Given the description of an element on the screen output the (x, y) to click on. 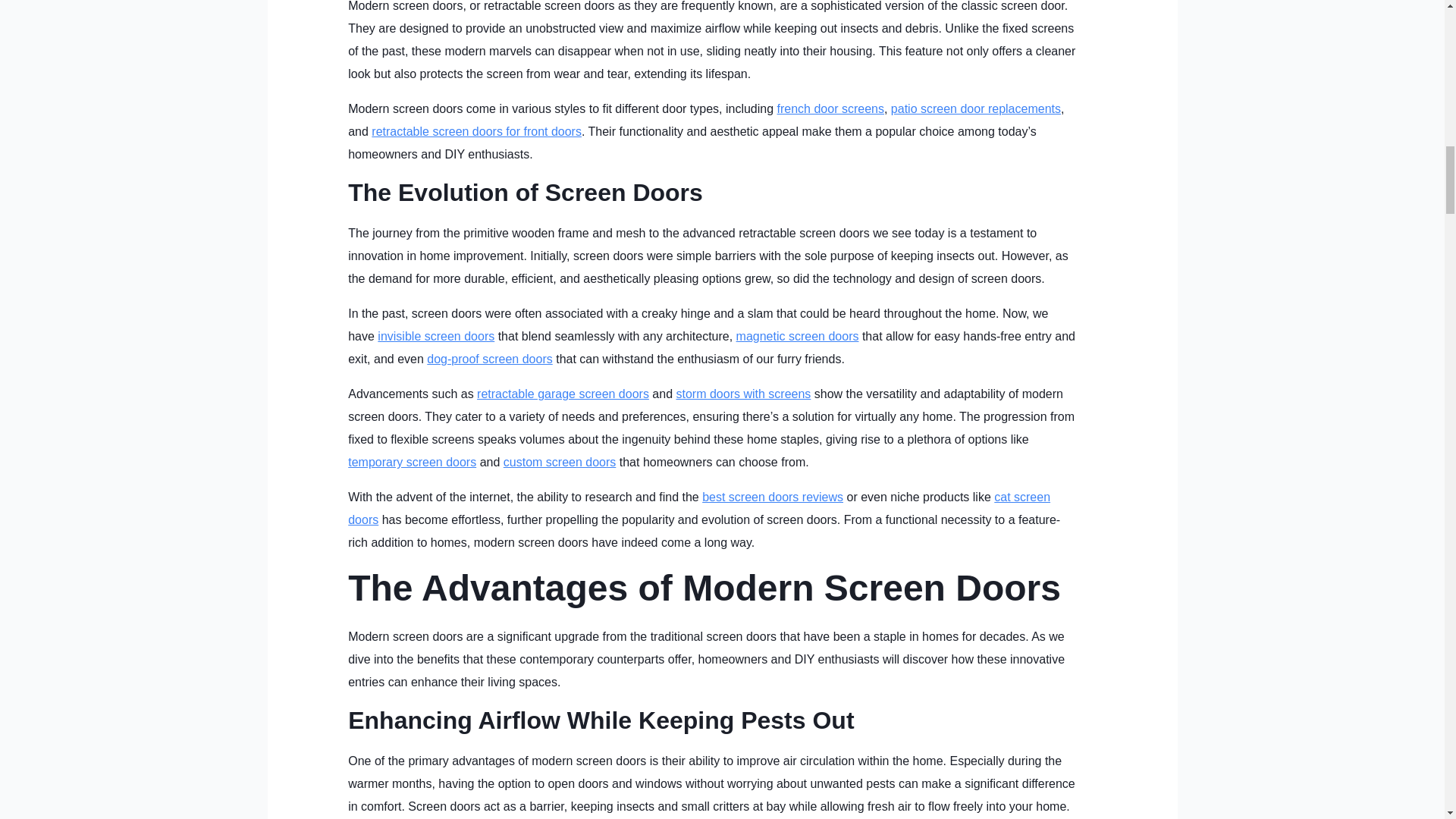
cat screen doors (698, 508)
invisible screen doors (436, 336)
patio screen door replacements (976, 108)
retractable garage screen doors (563, 393)
dog-proof screen doors (488, 358)
temporary screen doors (411, 461)
best screen doors reviews (772, 496)
french door screens (830, 108)
storm doors with screens (742, 393)
retractable screen doors for front doors (475, 131)
